Given the description of an element on the screen output the (x, y) to click on. 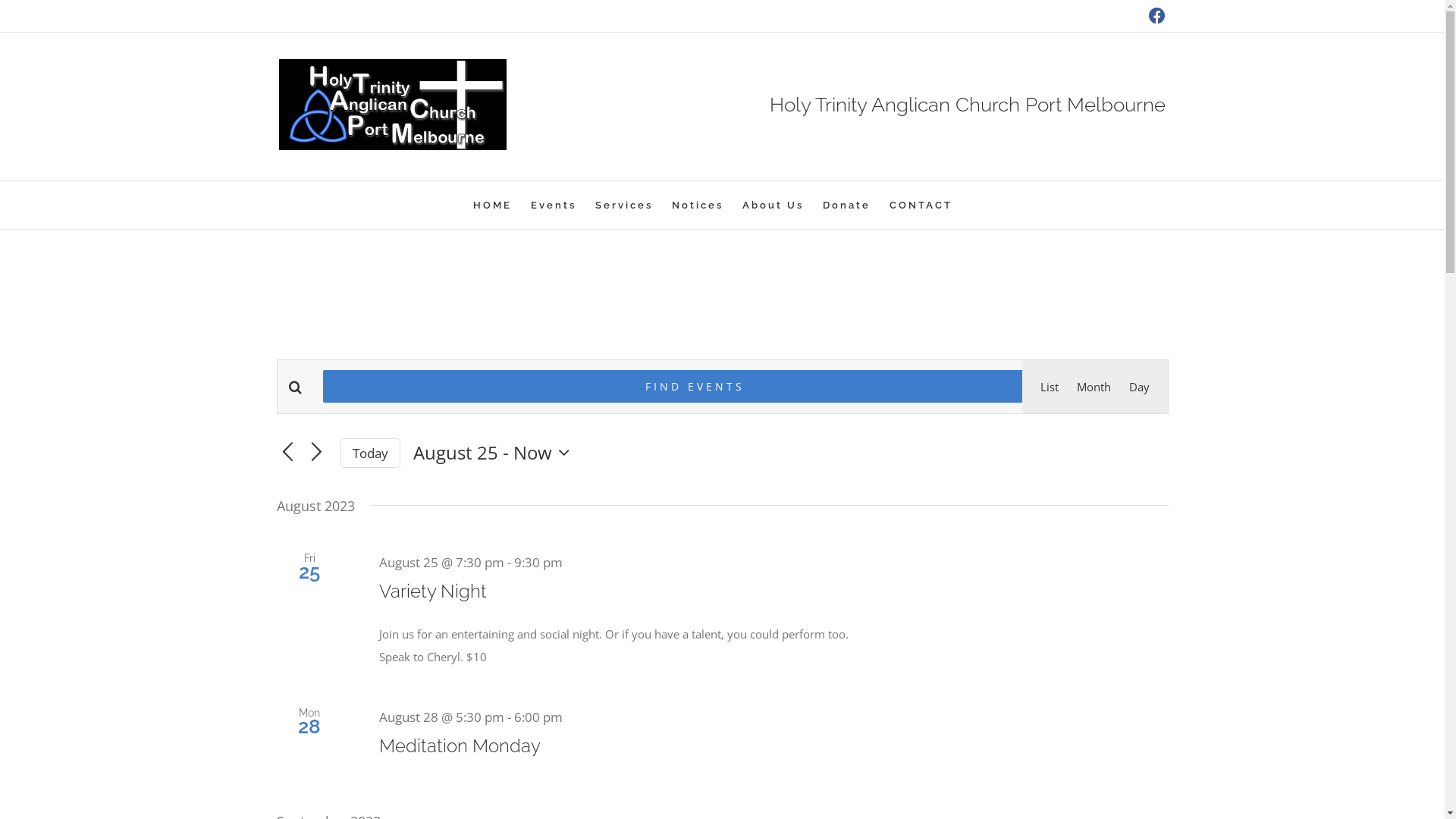
Today Element type: text (370, 452)
Month Element type: text (1093, 386)
August 25
 - 
Now Element type: text (495, 452)
List Element type: text (1049, 386)
Services Element type: text (623, 205)
Meditation Monday Element type: text (459, 745)
FIND EVENTS Element type: text (695, 386)
Previous Events Element type: hover (287, 453)
Events Element type: text (553, 205)
Notices Element type: text (697, 205)
CONTACT Element type: text (920, 205)
Variety Night Element type: text (432, 591)
Next Events Element type: hover (316, 453)
Day Element type: text (1138, 386)
HOME Element type: text (492, 205)
Facebook Element type: text (1156, 15)
Donate Element type: text (846, 205)
About Us Element type: text (772, 205)
